Given the description of an element on the screen output the (x, y) to click on. 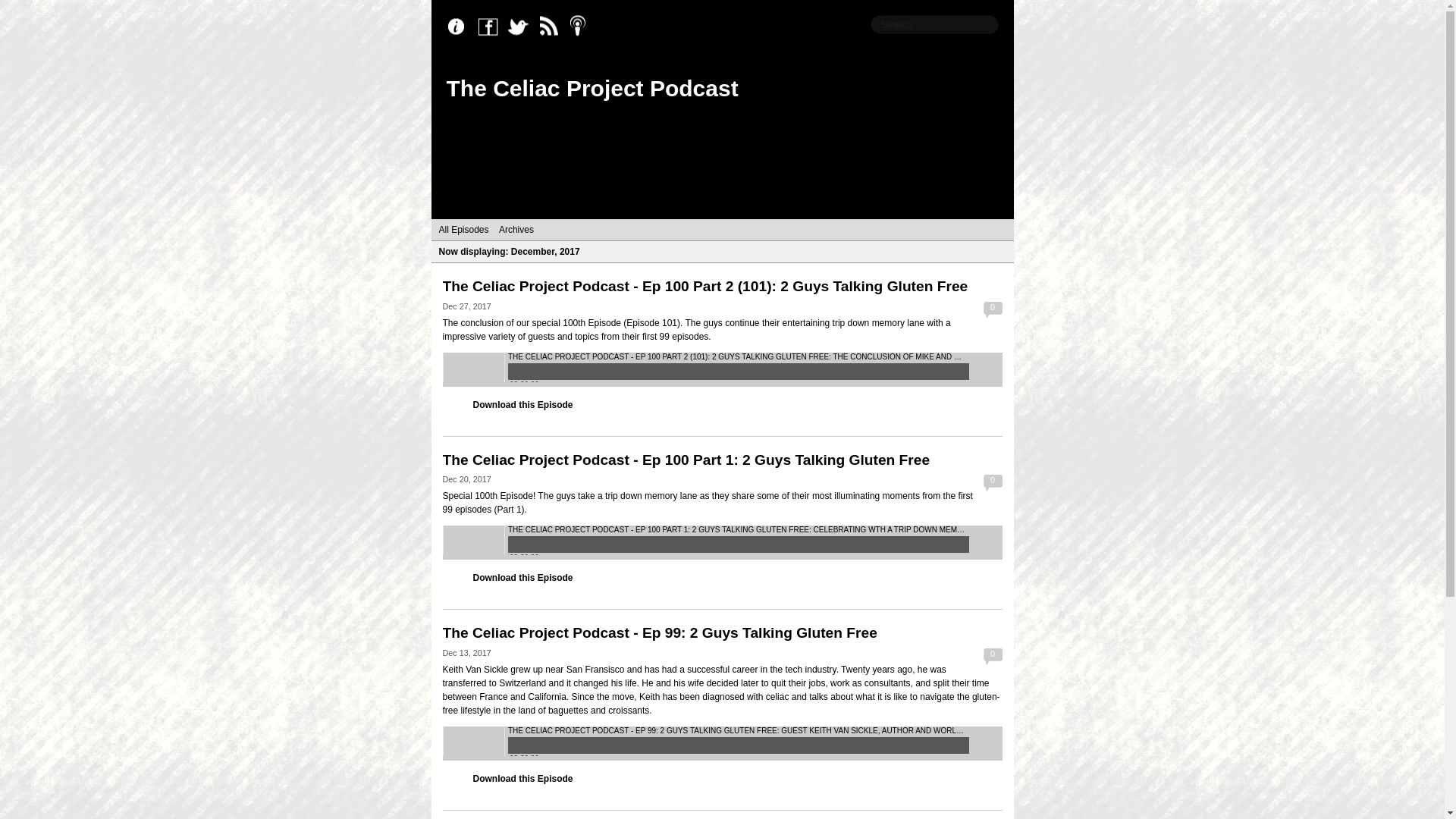
Libsyn Player (722, 542)
Libsyn Player (722, 369)
Subscribe in Apple Podcasts (581, 26)
RSS Feed (552, 26)
The Celiac Project Podcast (591, 88)
Facebook (491, 26)
Libsyn Player (722, 743)
Twitter (521, 26)
